Given the description of an element on the screen output the (x, y) to click on. 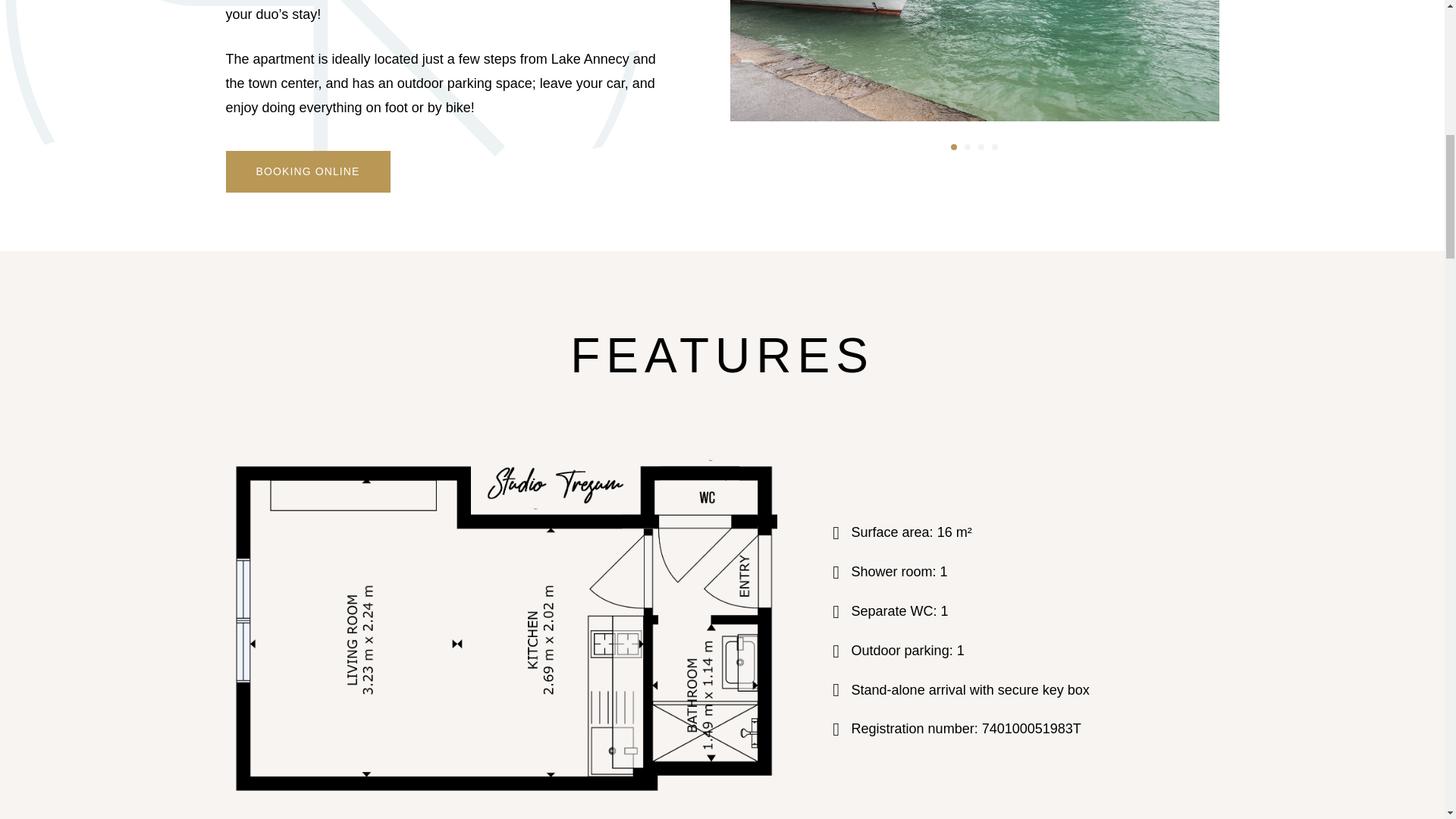
BOOKING ONLINE (307, 171)
